Given the description of an element on the screen output the (x, y) to click on. 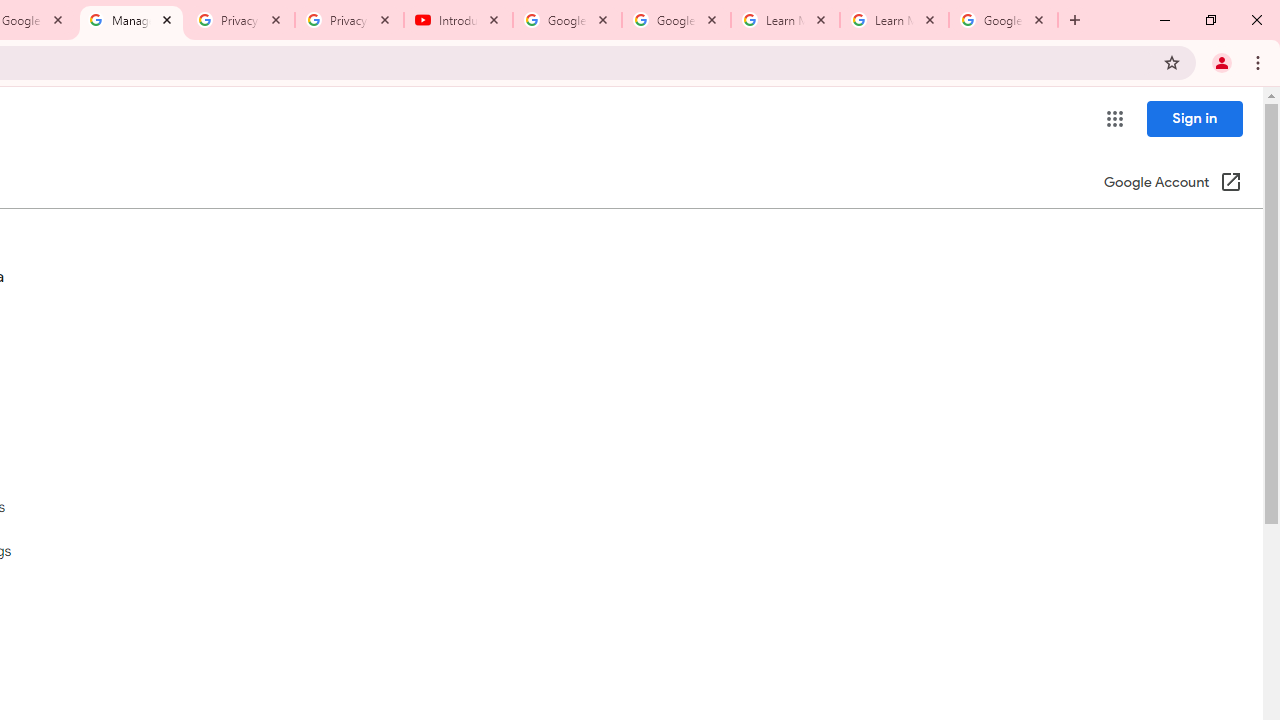
Google Account (Open in a new window) (1172, 183)
